Given the description of an element on the screen output the (x, y) to click on. 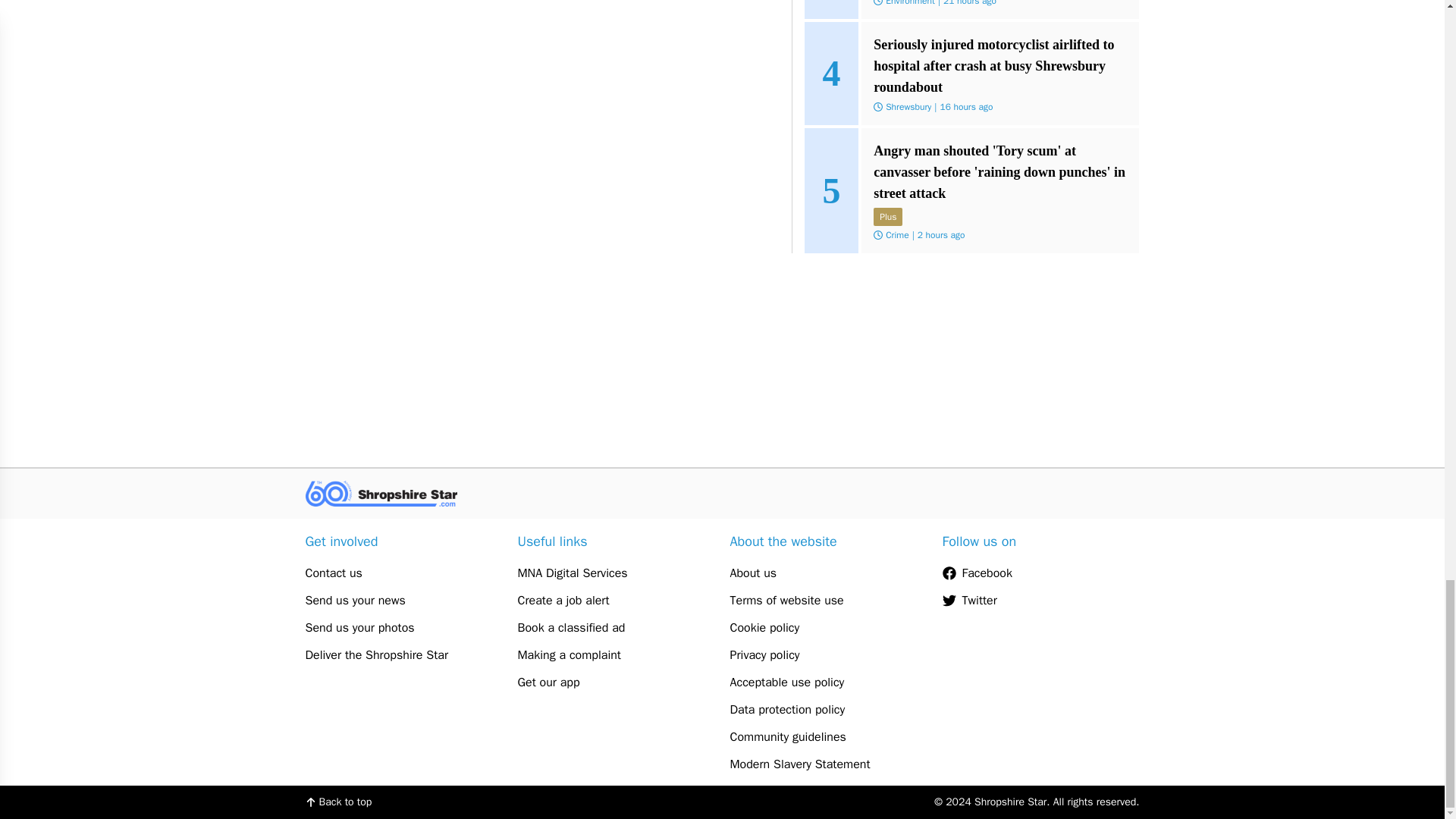
Shrewsbury (908, 234)
Shrewsbury Town FC (925, 128)
Shrewsbury (908, 21)
